Given the description of an element on the screen output the (x, y) to click on. 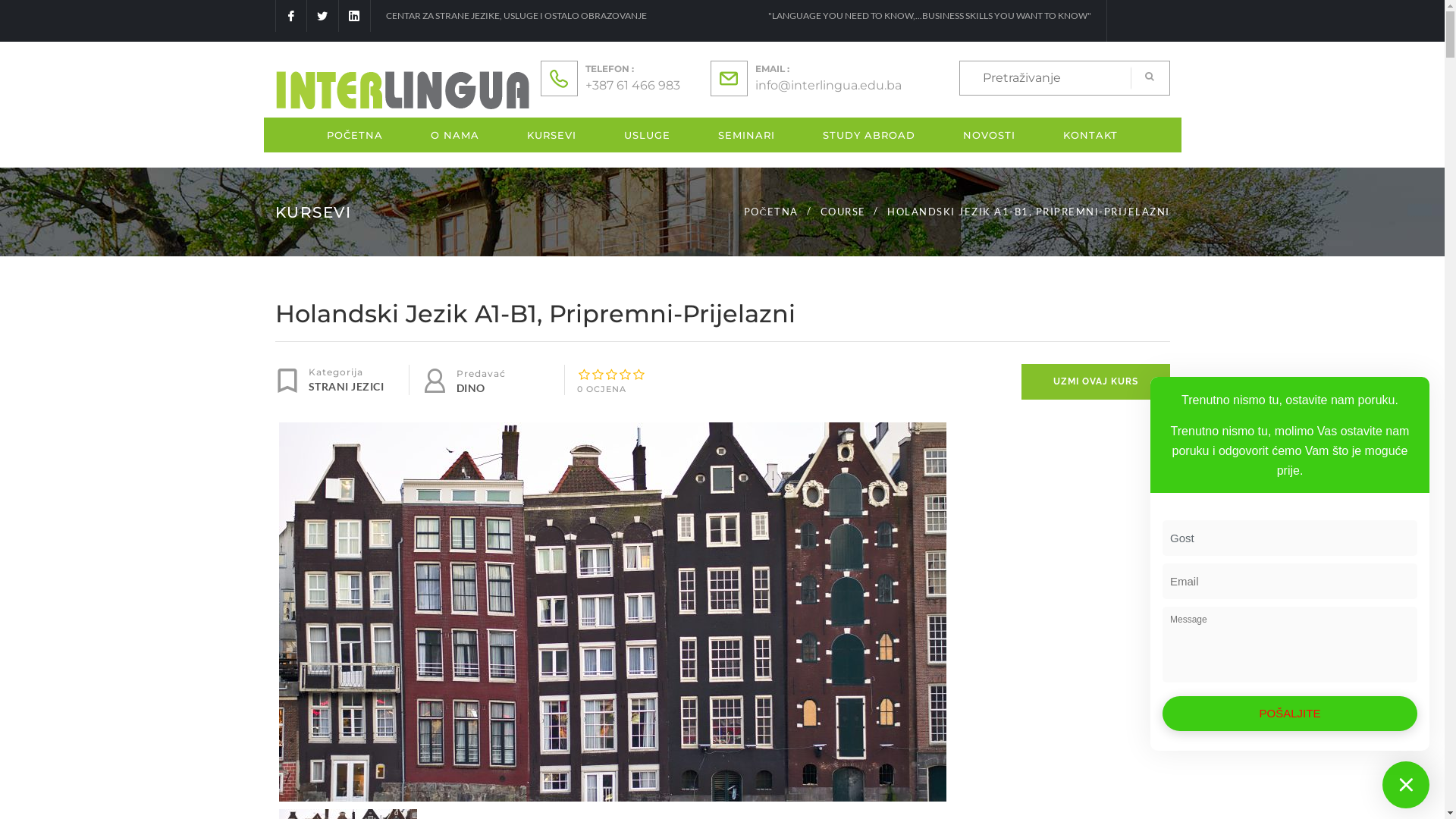
KONTAKT Element type: text (1090, 133)
SEMINARI Element type: text (746, 133)
COURSE Element type: text (843, 210)
+387 61 466 983 Element type: text (632, 84)
info@interlingua.edu.ba Element type: text (828, 84)
USLUGE Element type: text (647, 133)
O NAMA Element type: text (454, 133)
STUDY ABROAD Element type: text (868, 133)
NOVOSTI Element type: text (989, 133)
KURSEVI Element type: text (551, 133)
UZMI OVAJ KURS Element type: text (1094, 382)
STRANI JEZICI Element type: text (357, 386)
